Given the description of an element on the screen output the (x, y) to click on. 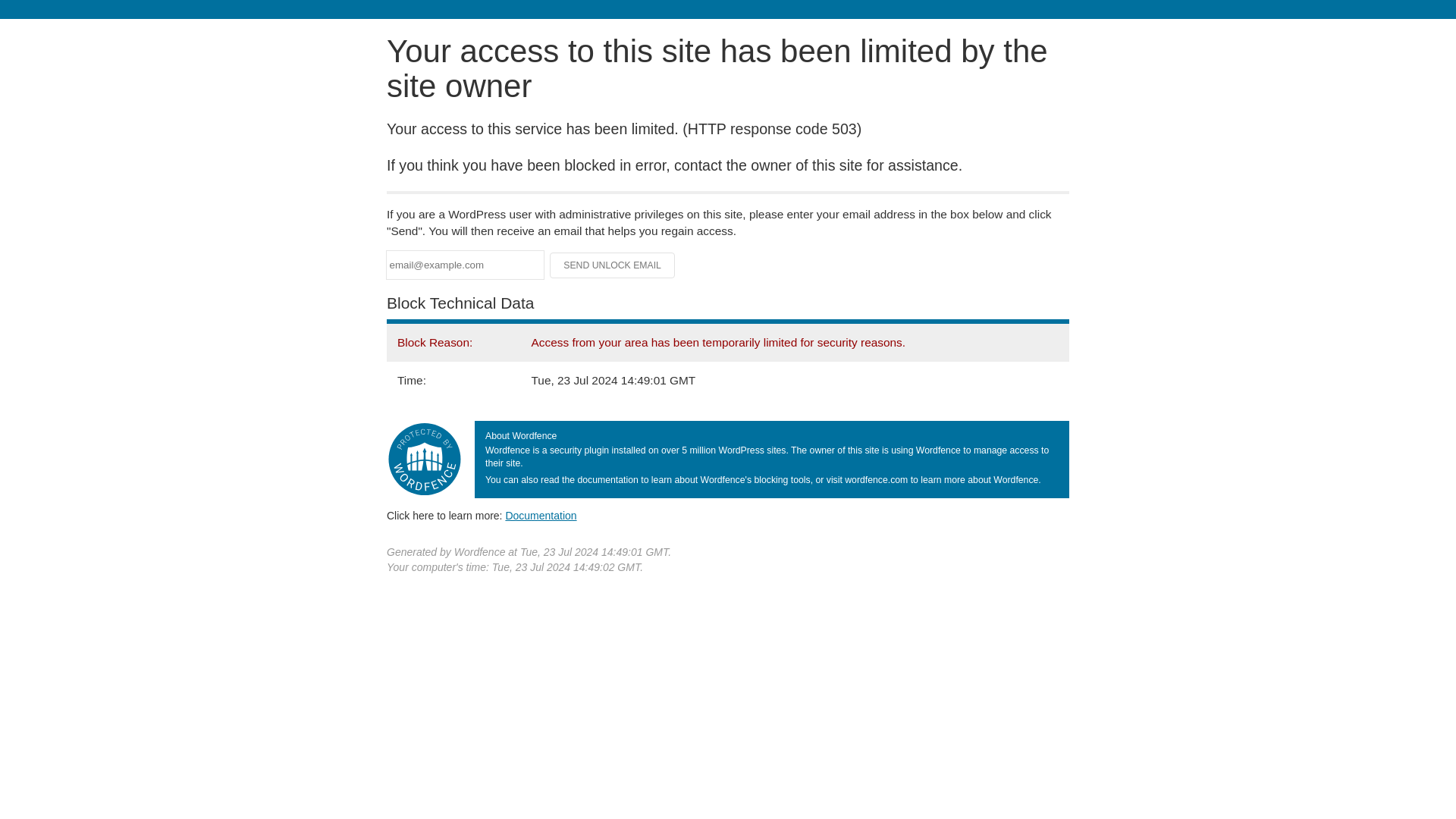
Send Unlock Email (612, 265)
Send Unlock Email (612, 265)
Documentation (540, 515)
